Given the description of an element on the screen output the (x, y) to click on. 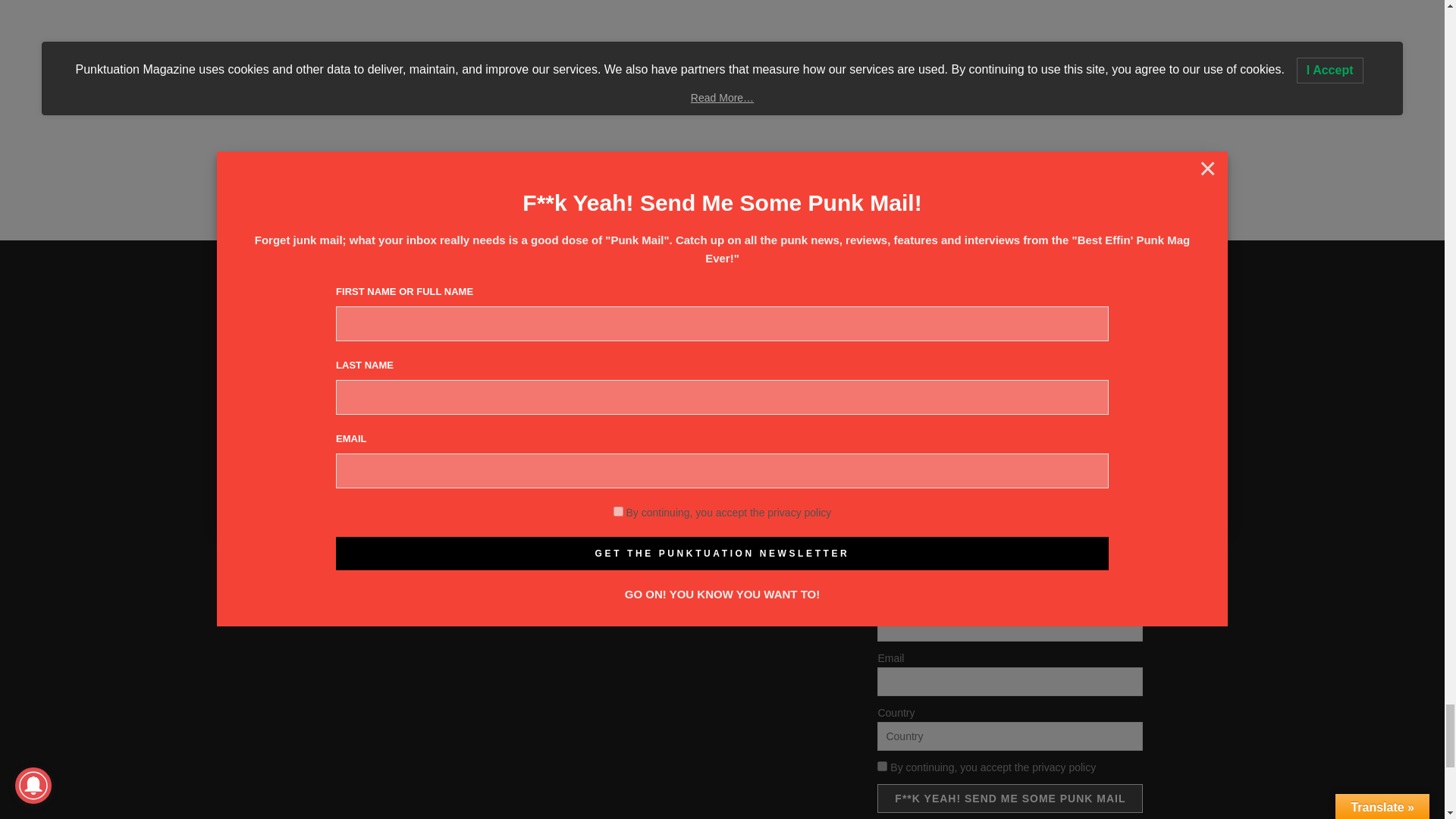
on (881, 766)
